Given the description of an element on the screen output the (x, y) to click on. 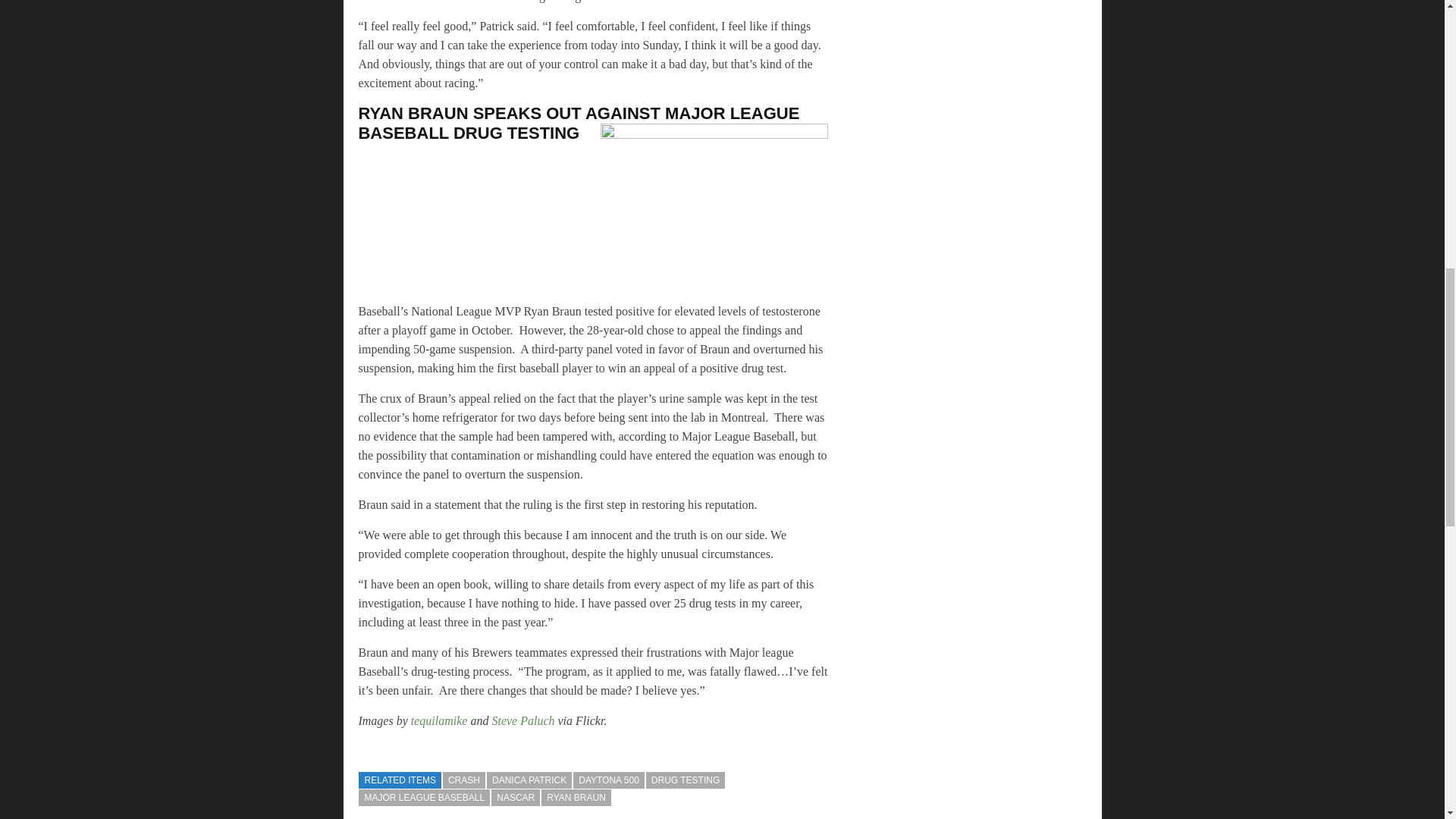
tequilamike (438, 720)
ryanbraun (713, 208)
DANICA PATRICK (529, 780)
NASCAR (516, 797)
DAYTONA 500 (609, 780)
CRASH (463, 780)
MAJOR LEAGUE BASEBALL (423, 797)
Steve Paluch (523, 720)
DRUG TESTING (685, 780)
